Given the description of an element on the screen output the (x, y) to click on. 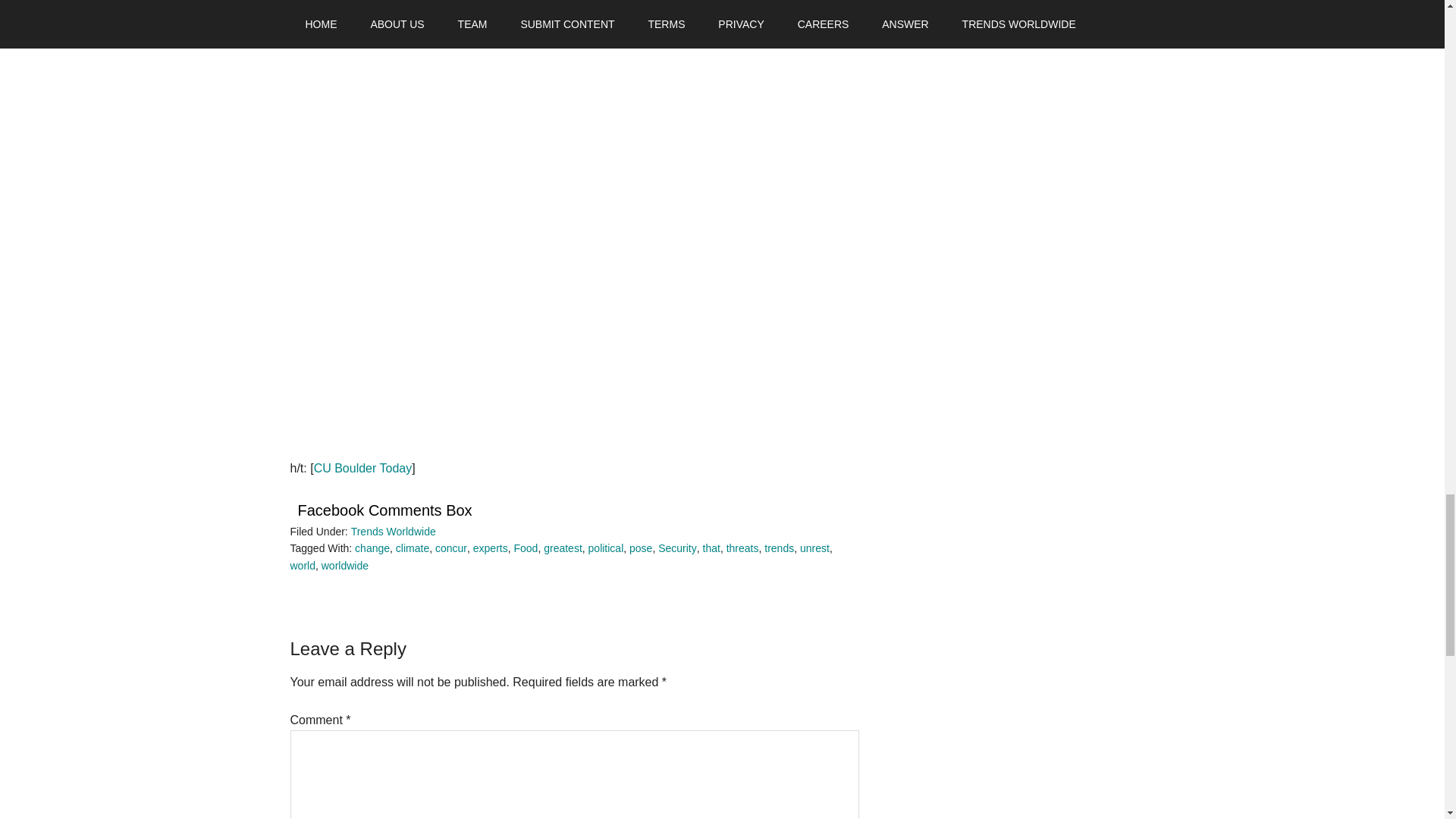
trends (778, 548)
greatest (562, 548)
pose (640, 548)
experts (490, 548)
change (372, 548)
climate (412, 548)
worldwide (344, 565)
that (711, 548)
unrest (814, 548)
world (301, 565)
